Given the description of an element on the screen output the (x, y) to click on. 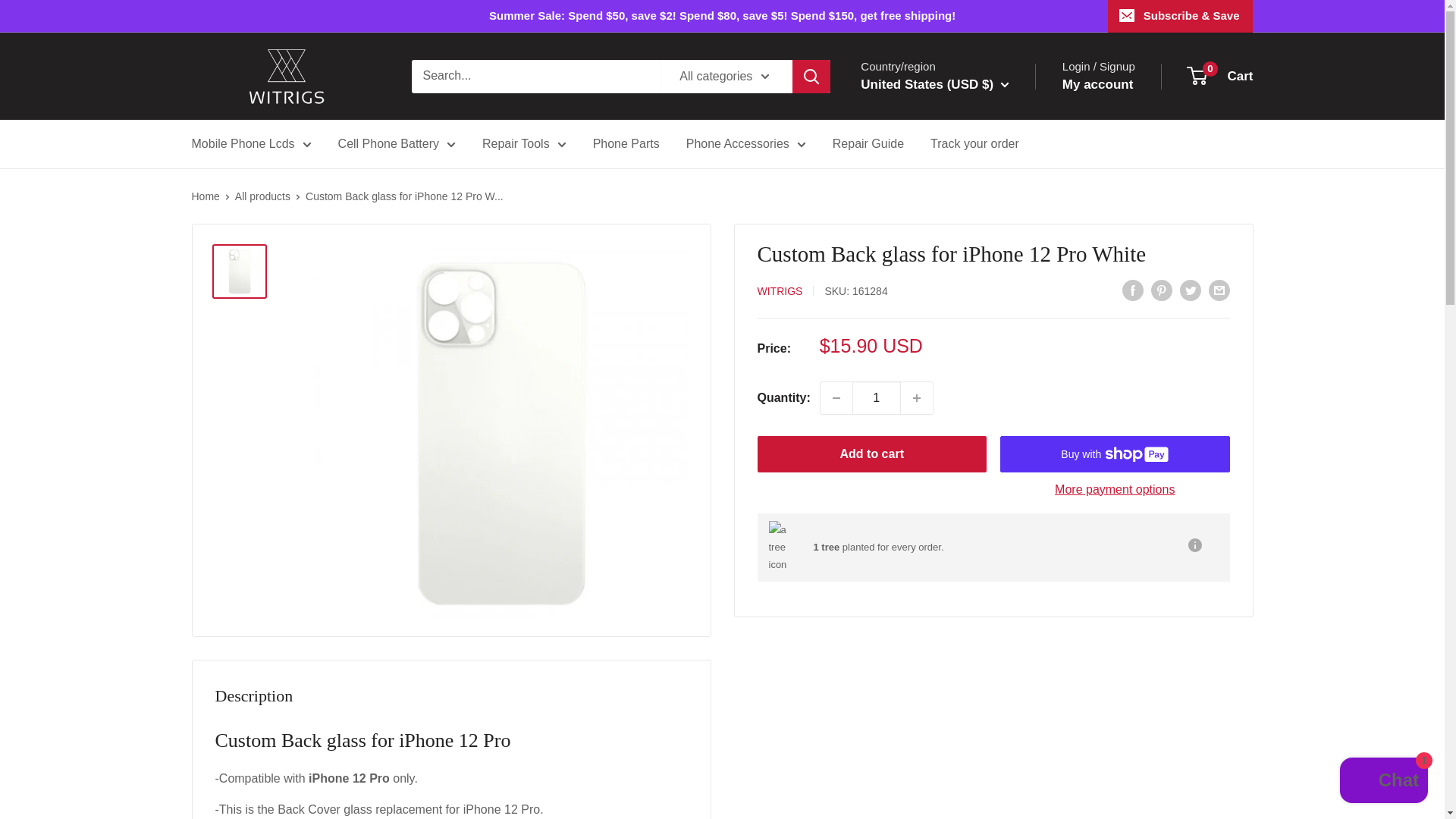
Shopify online store chat (1383, 781)
Increase quantity by 1 (917, 398)
1 (876, 398)
Decrease quantity by 1 (836, 398)
